Given the description of an element on the screen output the (x, y) to click on. 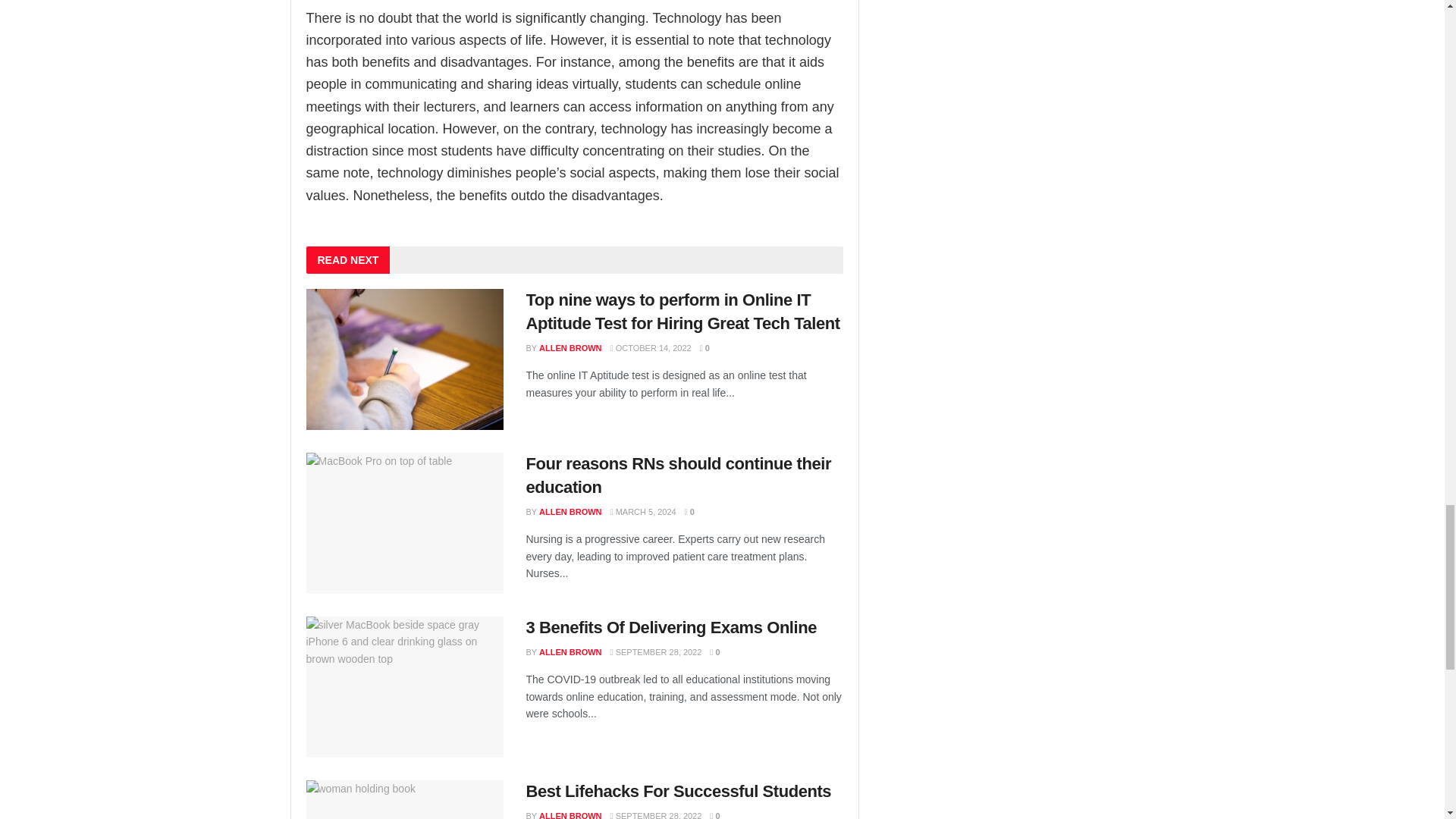
OCTOBER 14, 2022 (650, 347)
ALLEN BROWN (570, 347)
